Given the description of an element on the screen output the (x, y) to click on. 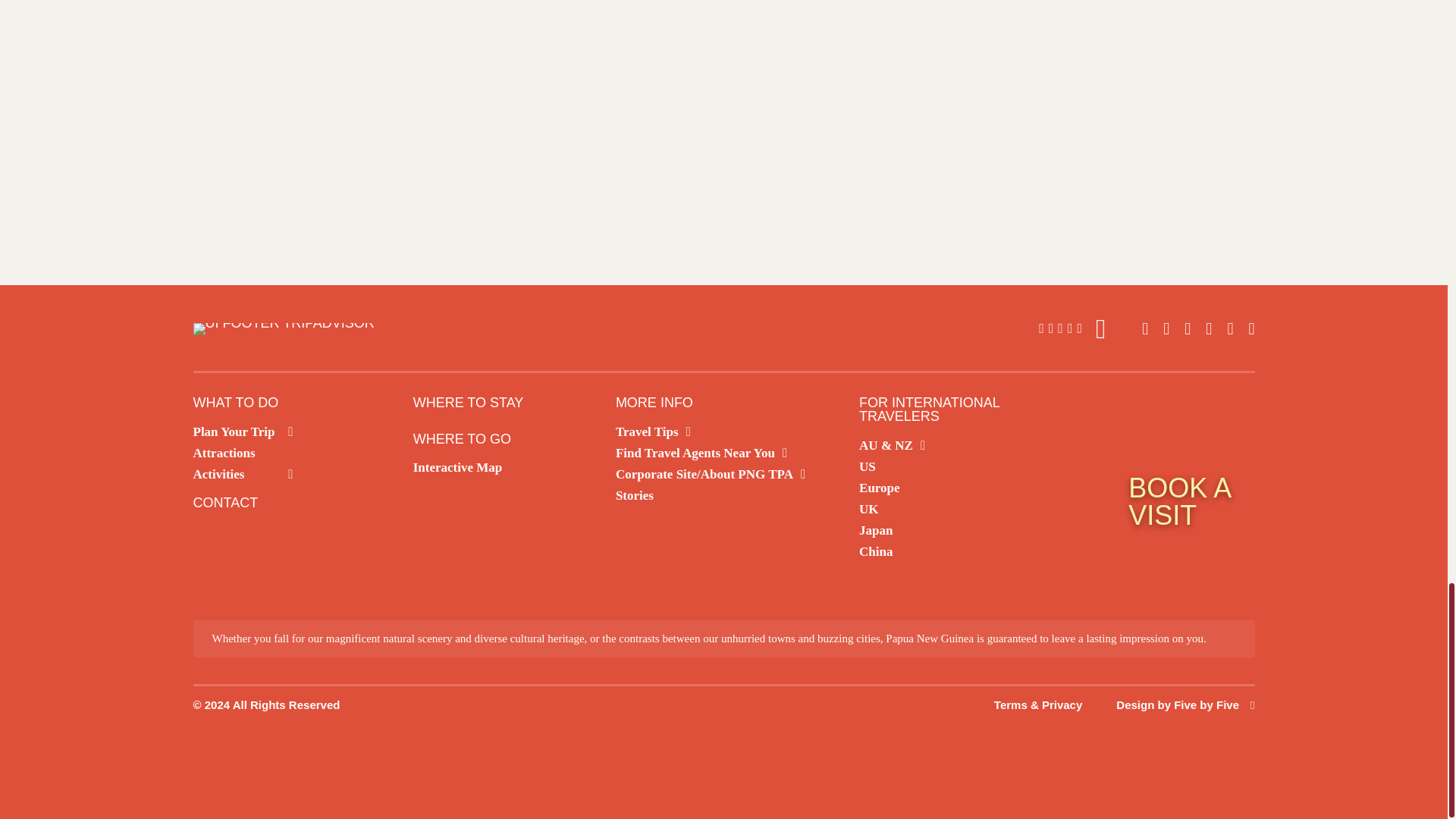
Google Reviews (1072, 329)
